Given the description of an element on the screen output the (x, y) to click on. 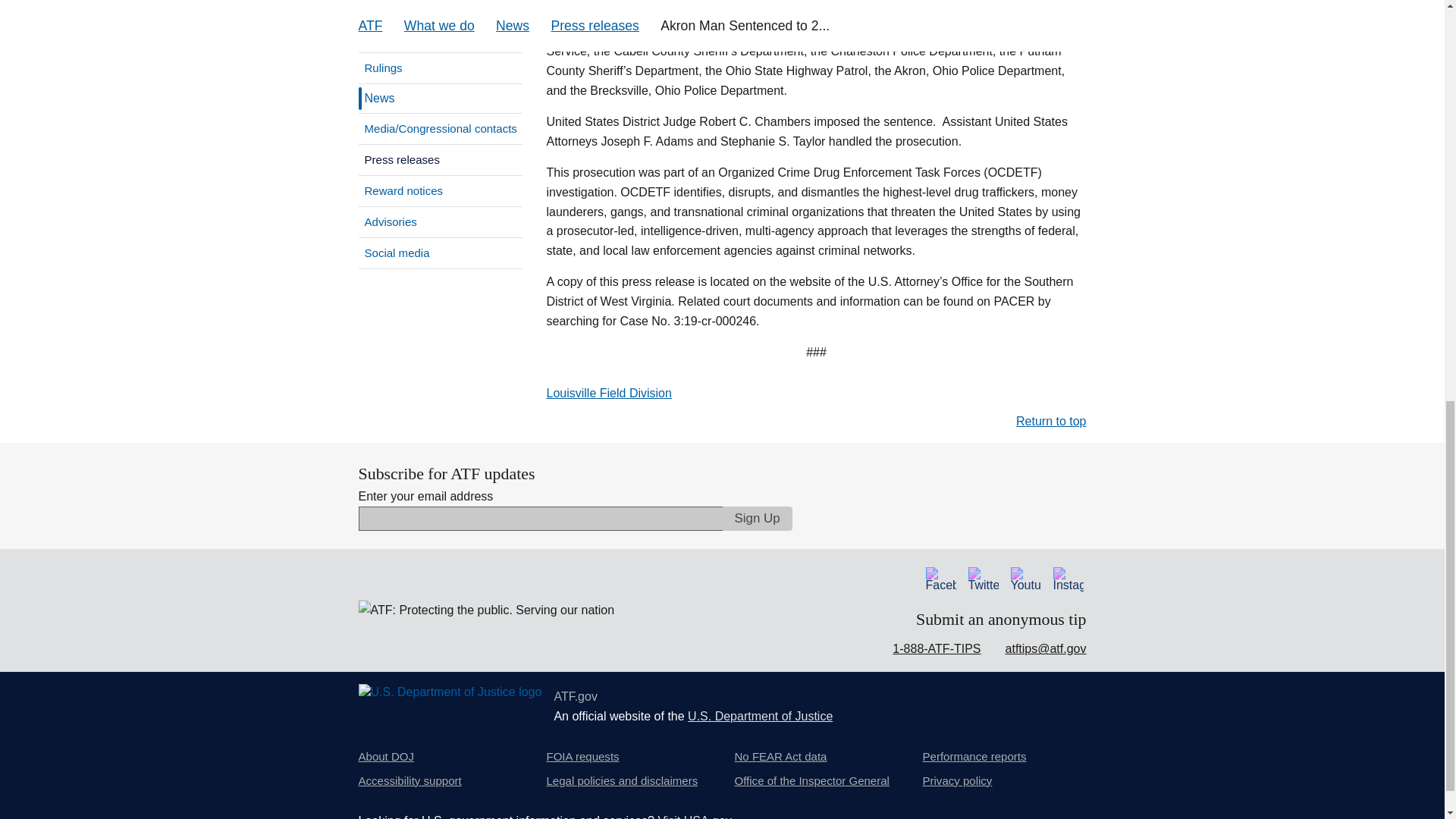
Regulations (439, 10)
Rulings (439, 68)
News (377, 98)
Federal Register (439, 37)
